Given the description of an element on the screen output the (x, y) to click on. 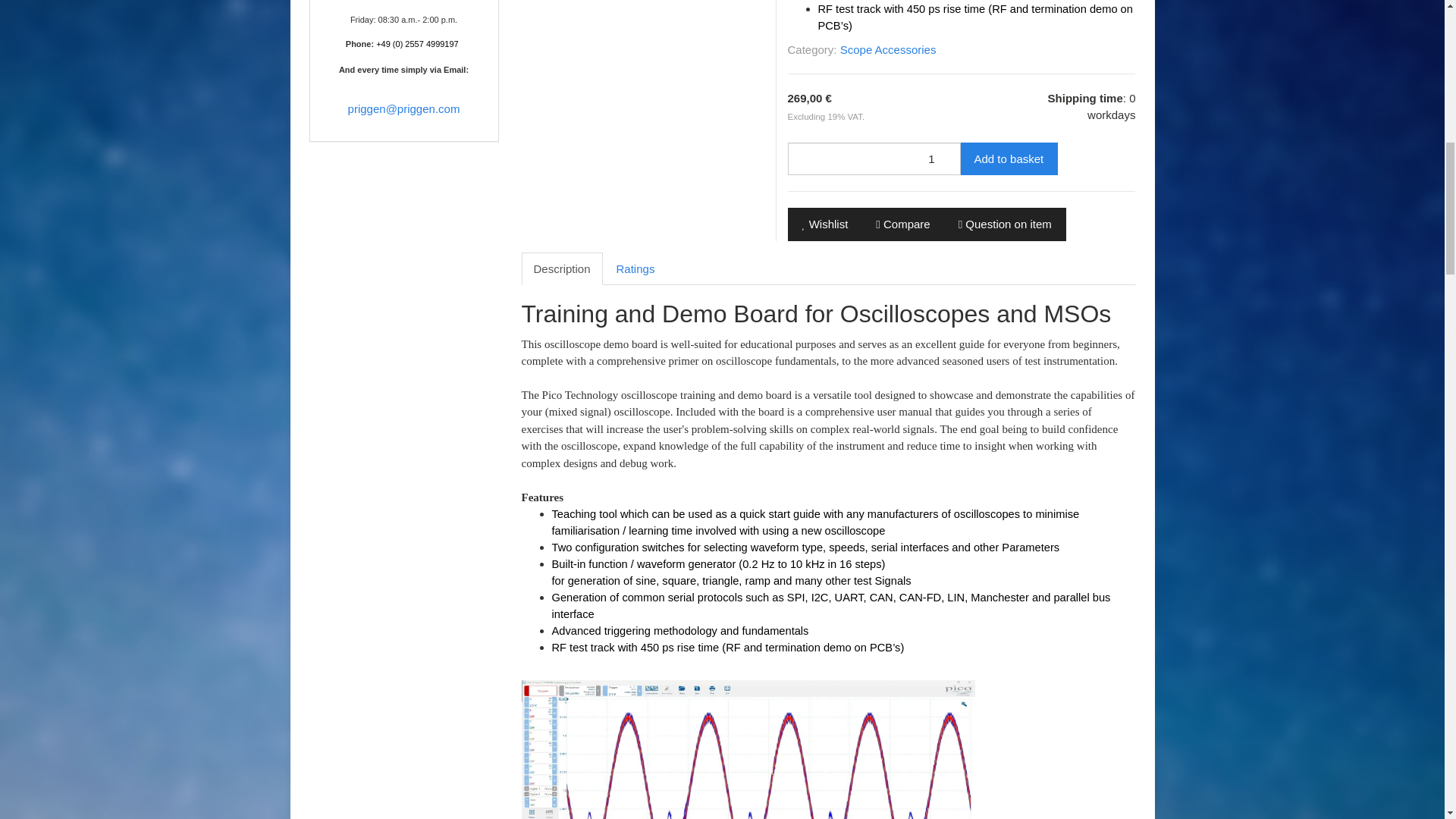
1 (873, 158)
